Given the description of an element on the screen output the (x, y) to click on. 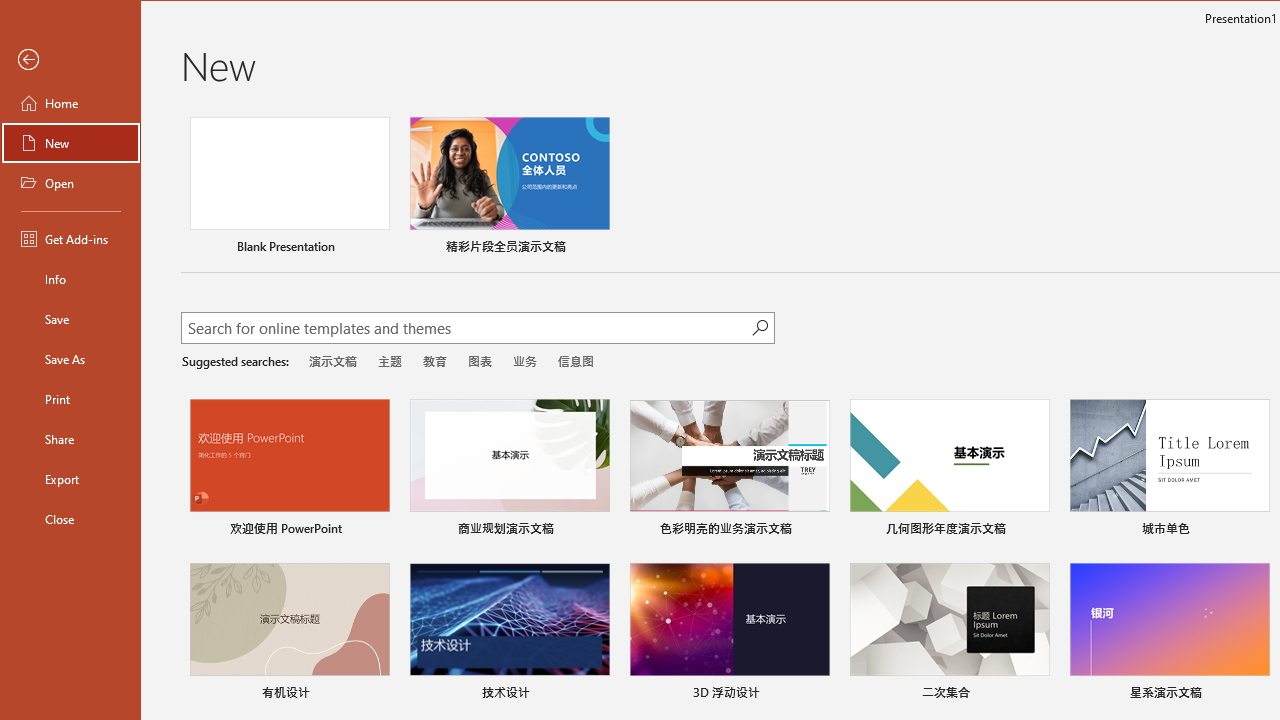
Get Add-ins (70, 238)
Pin to list (1256, 695)
Blank Presentation (289, 187)
Info (70, 278)
